Given the description of an element on the screen output the (x, y) to click on. 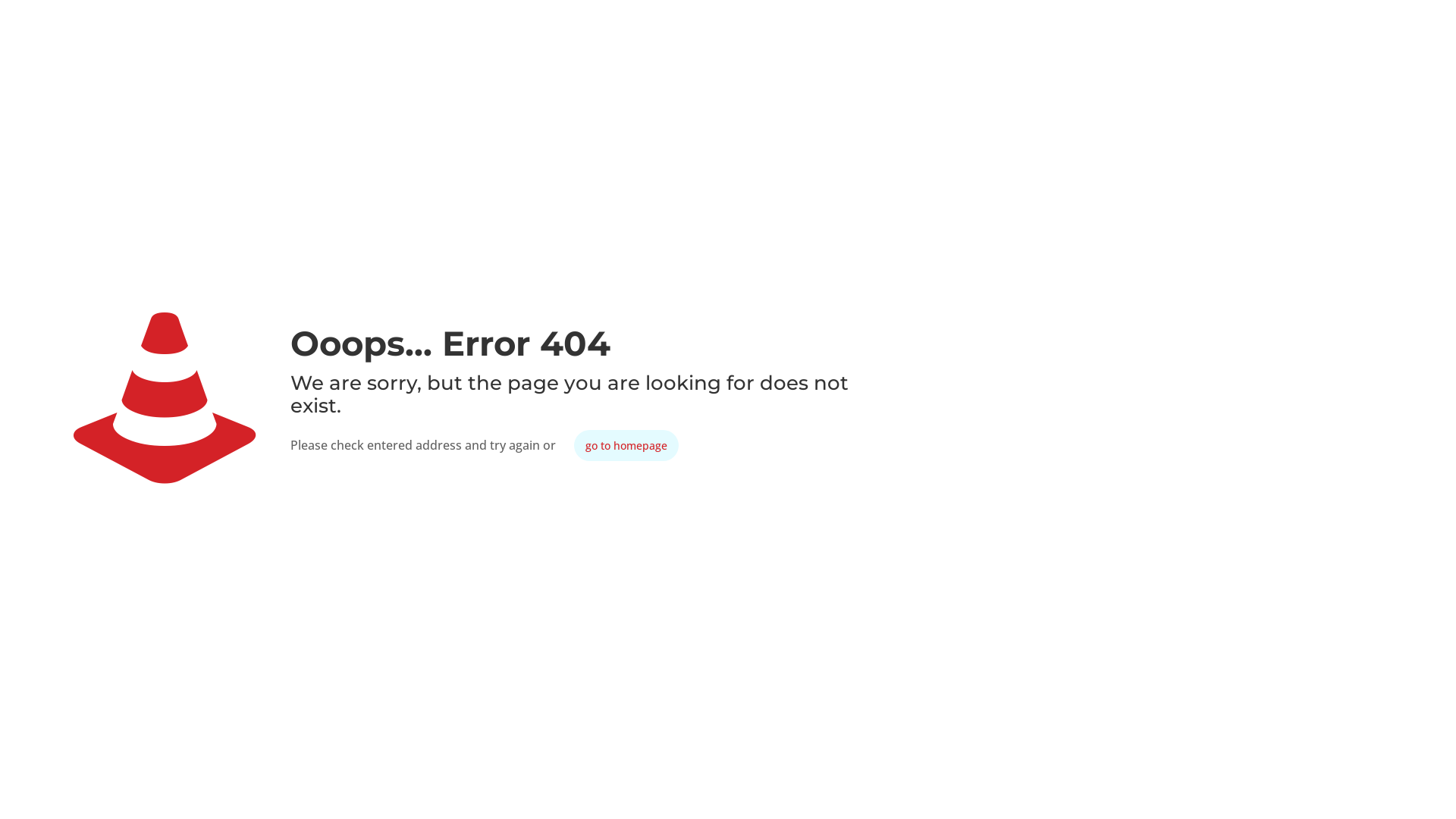
go to homepage Element type: text (626, 445)
